Given the description of an element on the screen output the (x, y) to click on. 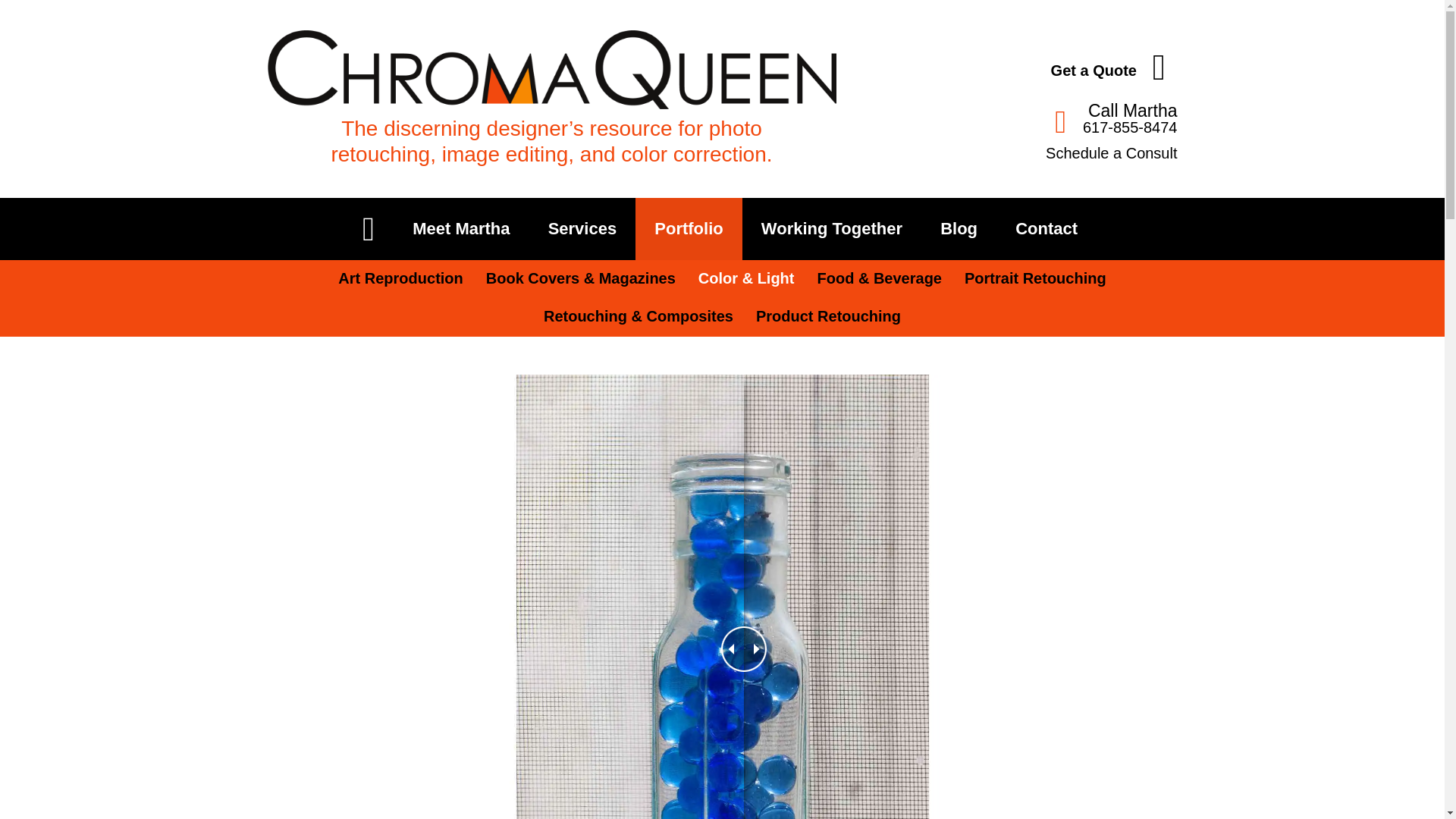
Working Together (831, 228)
Click This Landing Page to See Summary of Services (582, 228)
Get a Quote (1005, 63)
Schedule a Consult (1005, 153)
We Want to Hear From You (1045, 228)
Meet Martha (460, 228)
Give Martha a Call (1005, 118)
Contact (1045, 228)
Blog (958, 228)
Portrait Retouching (1035, 278)
